Given the description of an element on the screen output the (x, y) to click on. 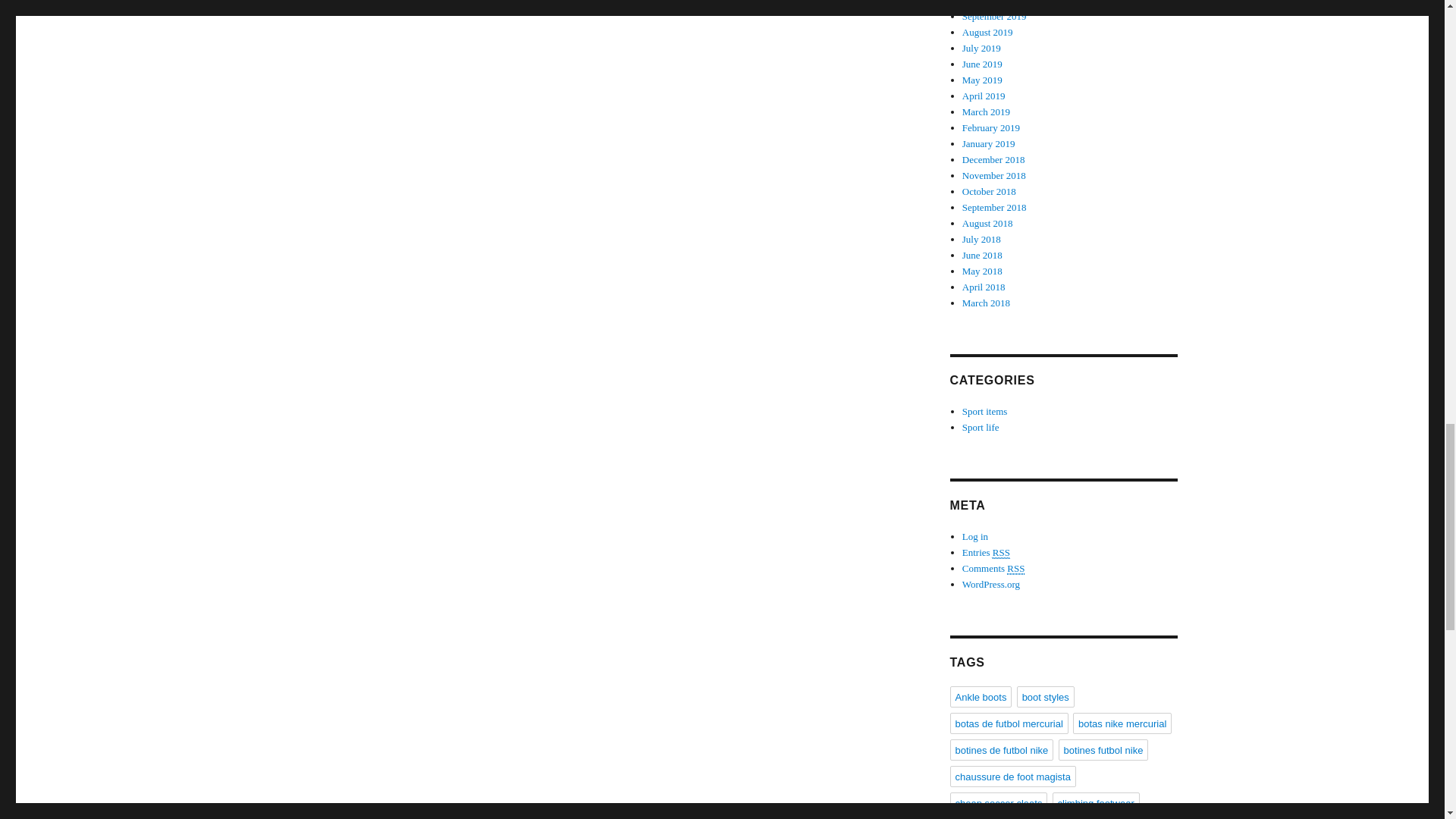
Really Simple Syndication (1016, 568)
Really Simple Syndication (1001, 552)
Good sport items and shoes you need to know (980, 427)
Share some sport items and useful soccer news. (984, 410)
